Given the description of an element on the screen output the (x, y) to click on. 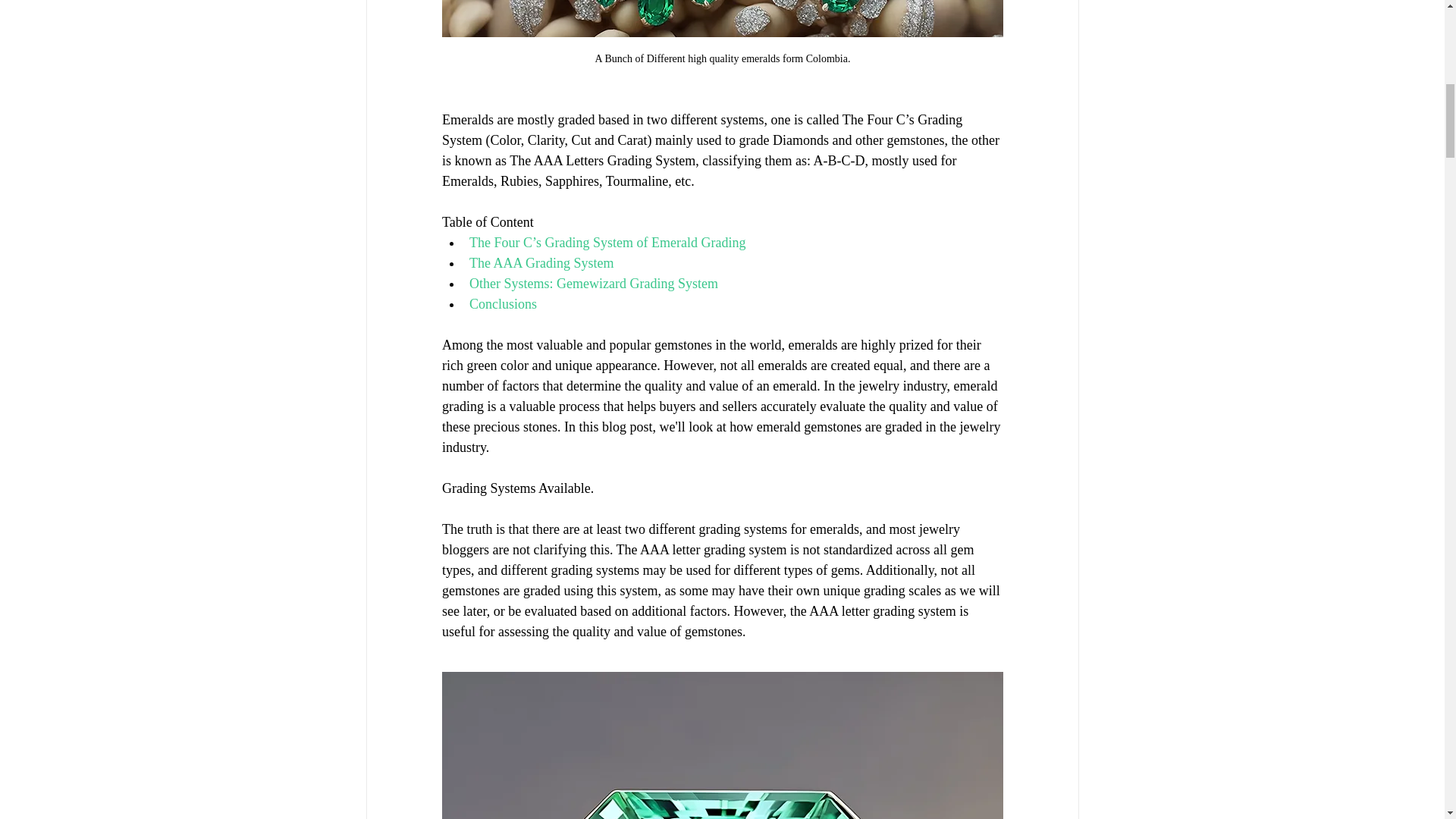
The AAA Grading System (540, 262)
Conclusions (501, 303)
Other Systems: Gemewizard Grading System (592, 282)
